Given the description of an element on the screen output the (x, y) to click on. 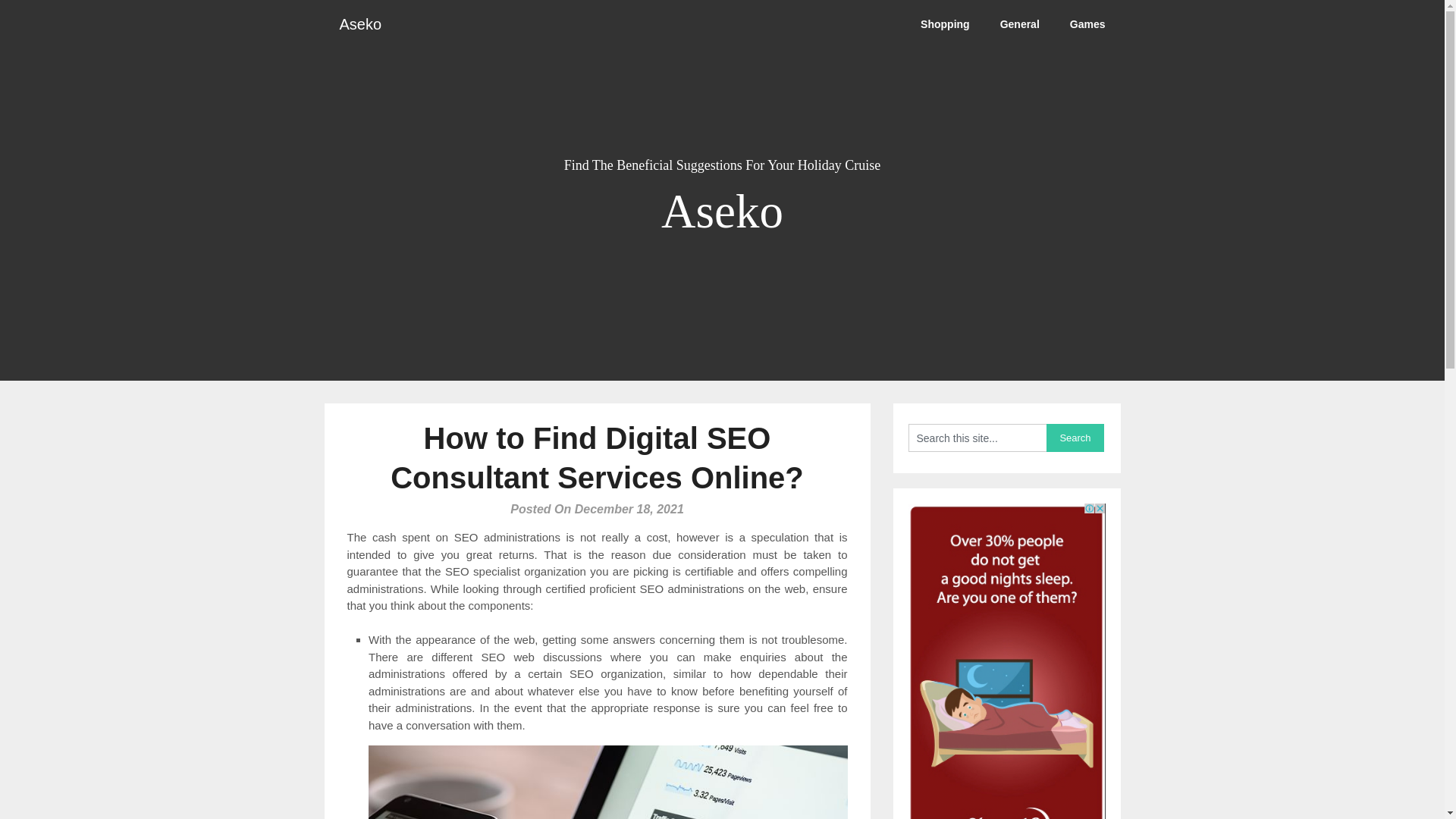
Search (1075, 438)
Games (1087, 24)
General (1019, 24)
Search this site... (977, 438)
Shopping (945, 24)
Aseko (360, 24)
Search (1075, 438)
